Given the description of an element on the screen output the (x, y) to click on. 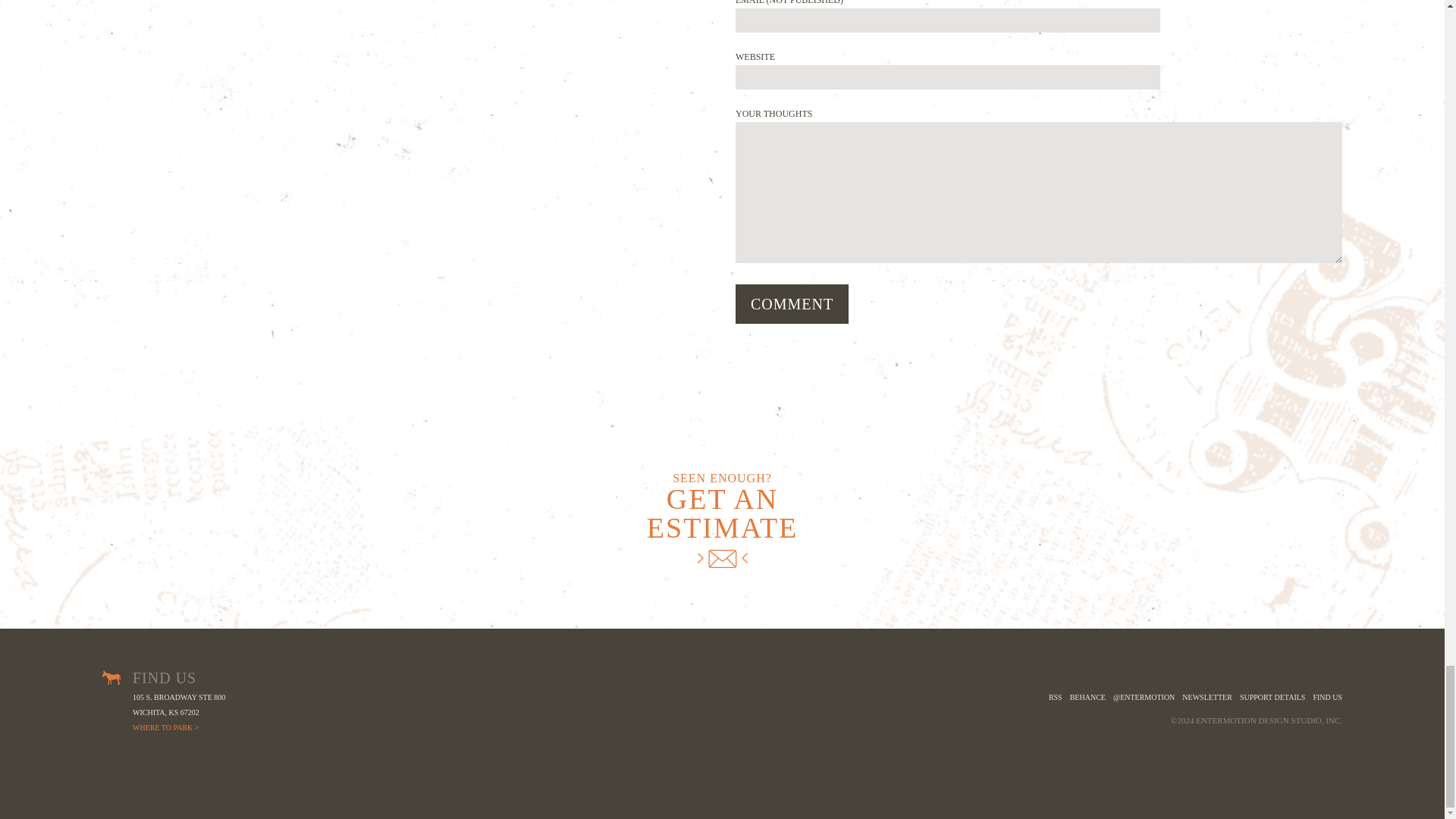
Seen enough? Get An Estimate (721, 520)
NEWSLETTER (1206, 697)
Find us (1327, 697)
RSS (1055, 697)
Comment (791, 303)
BEHANCE (1087, 697)
FIND US (1327, 697)
Follow us on Twitter (1143, 697)
Comment (791, 303)
Subscribe to RSS (1055, 697)
